Given the description of an element on the screen output the (x, y) to click on. 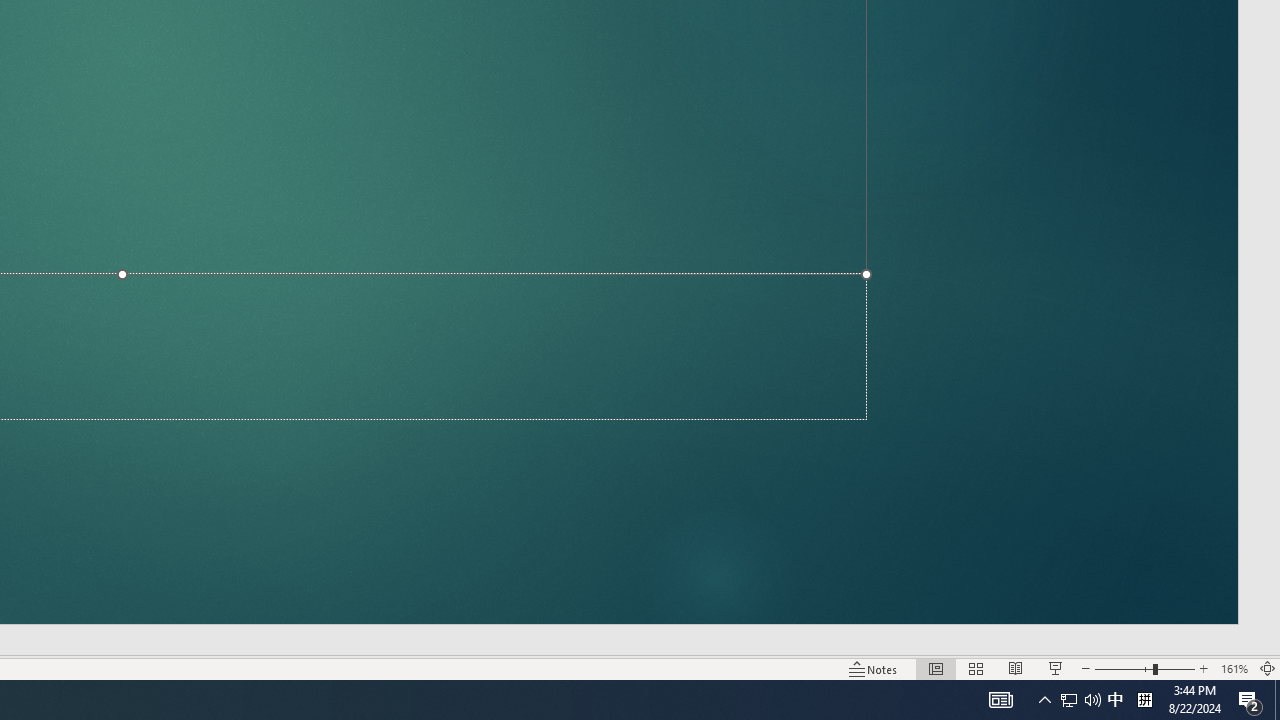
Zoom 161% (1234, 668)
